Given the description of an element on the screen output the (x, y) to click on. 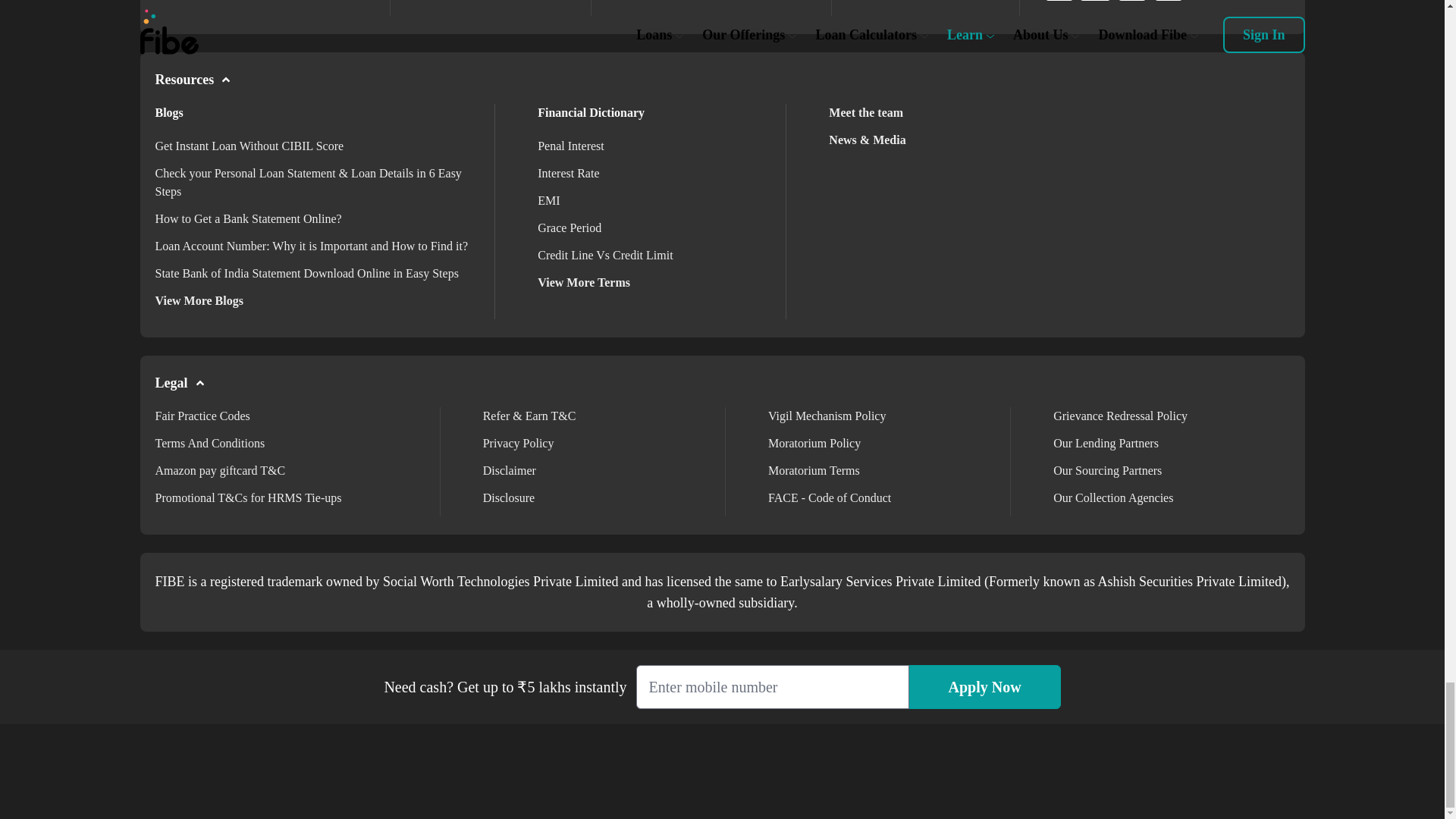
Our Sourcing Partners (1106, 470)
moratorium-terms (814, 470)
terms conditions (209, 442)
Our Collection Agencies (1112, 497)
Privacy Policy (518, 442)
Disclaimer (509, 470)
disclosure (508, 497)
Our Lending Partners (1105, 442)
face code conduct (829, 497)
fair code practices (201, 415)
Grievance Redressal Policy (1120, 415)
